Given the description of an element on the screen output the (x, y) to click on. 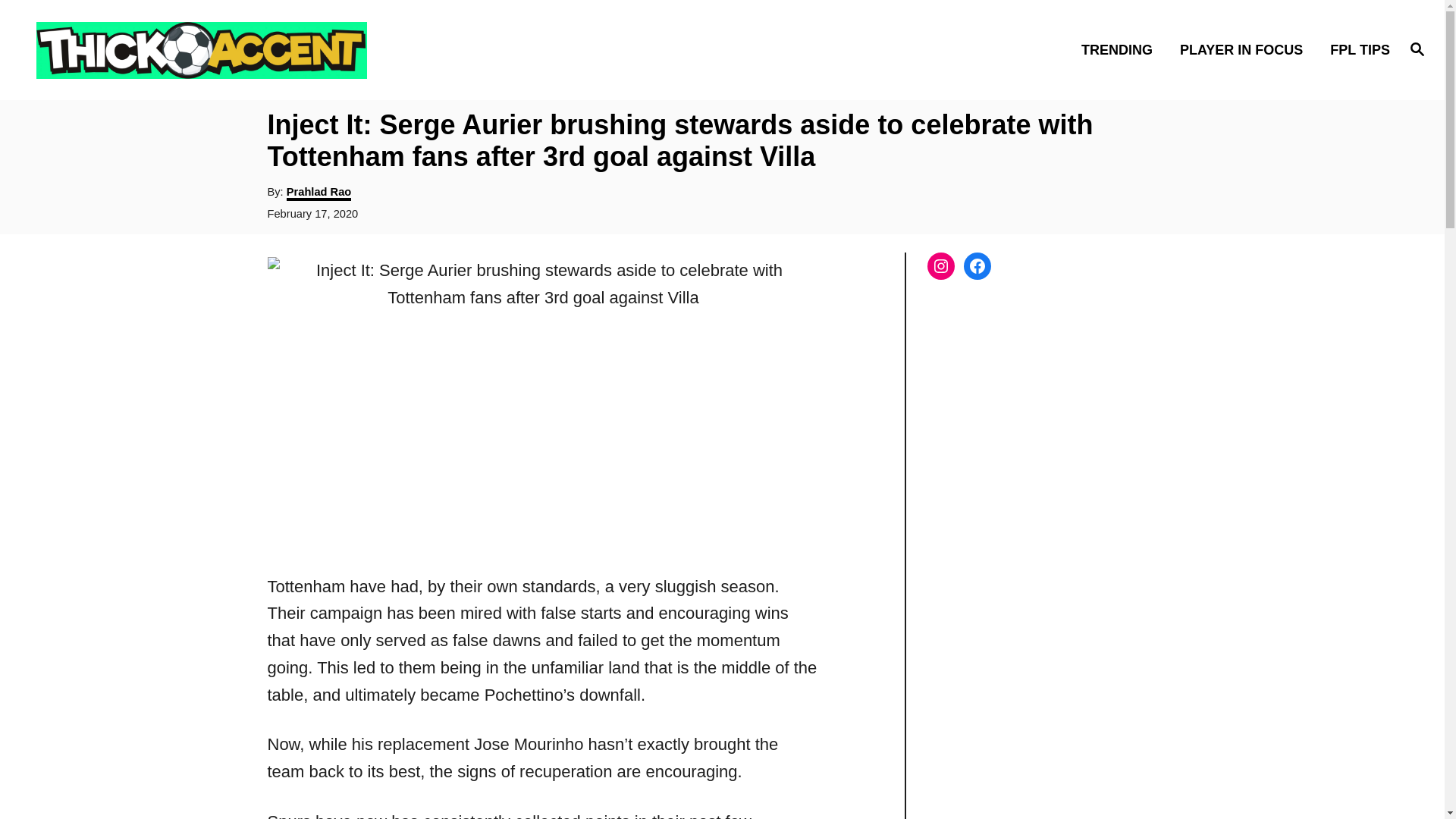
Prahlad Rao (319, 192)
Thick Accent (204, 49)
Facebook (976, 266)
FPL TIPS (1355, 49)
PLAYER IN FOCUS (1245, 49)
Instagram (939, 266)
Magnifying Glass (1416, 48)
TRENDING (1120, 49)
